Given the description of an element on the screen output the (x, y) to click on. 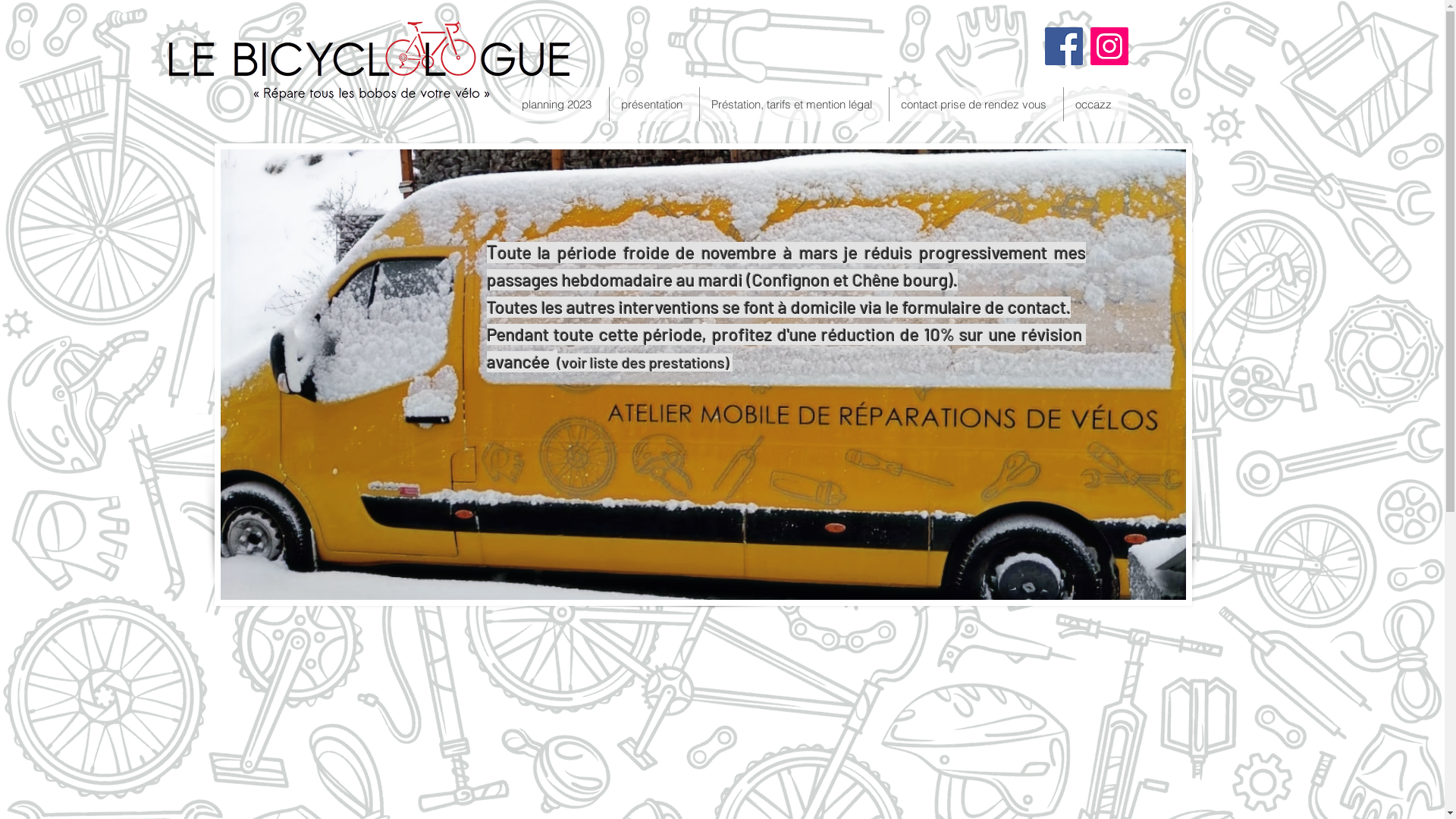
contact prise de rendez vous Element type: text (975, 104)
planning 2023 Element type: text (558, 104)
occazz Element type: text (1095, 104)
